Given the description of an element on the screen output the (x, y) to click on. 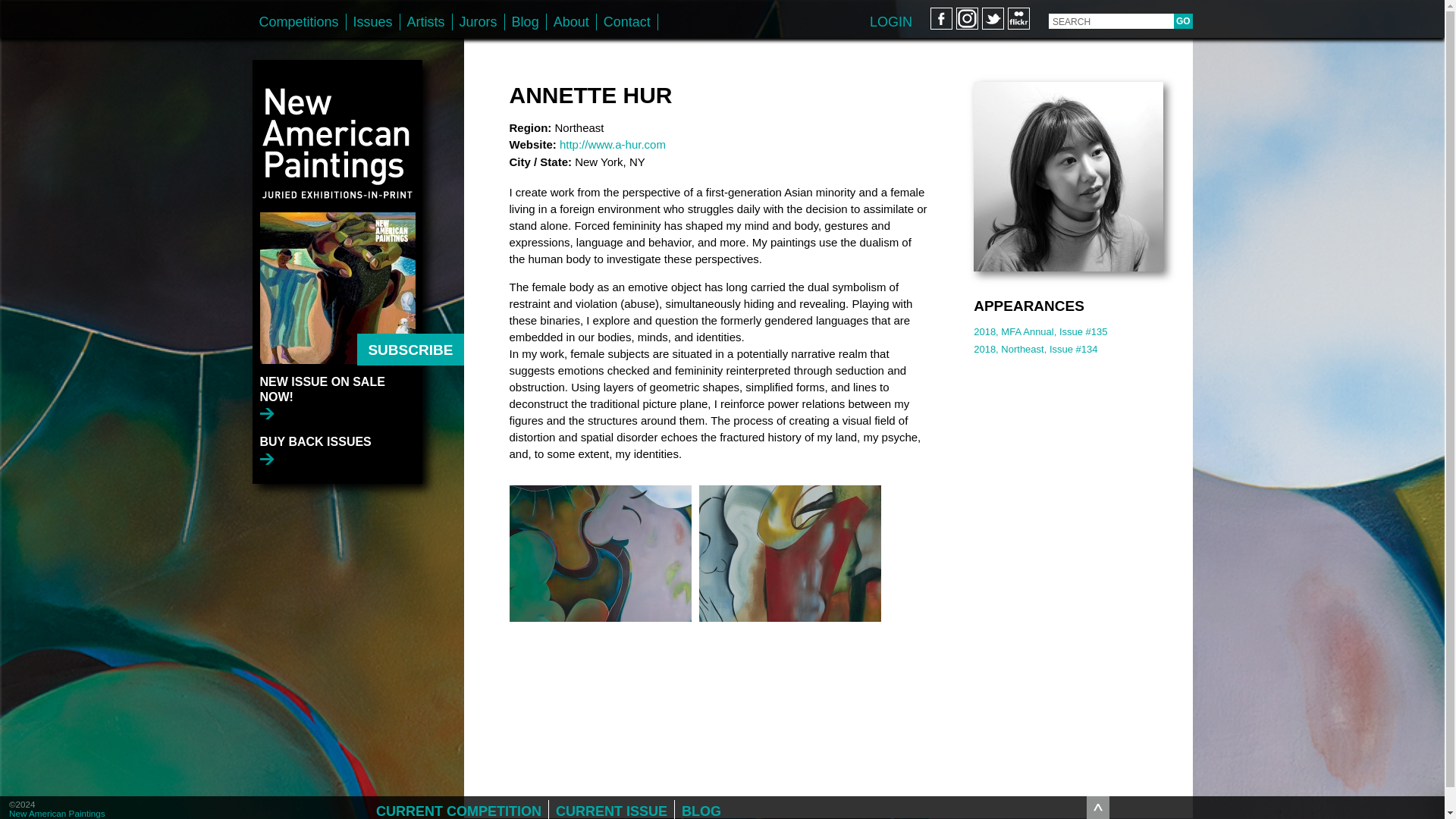
Blog (525, 21)
Competitions (298, 21)
Subscribe (409, 349)
LOGIN (890, 21)
About (571, 21)
CURRENT COMPETITION (458, 809)
Blog (525, 21)
Buy back issues (315, 449)
BUY BACK ISSUES (315, 449)
Login (890, 21)
Competitions (298, 21)
SUBSCRIBE (409, 349)
New American Paintings (56, 813)
Contact (627, 21)
New American Paintings (336, 135)
